Given the description of an element on the screen output the (x, y) to click on. 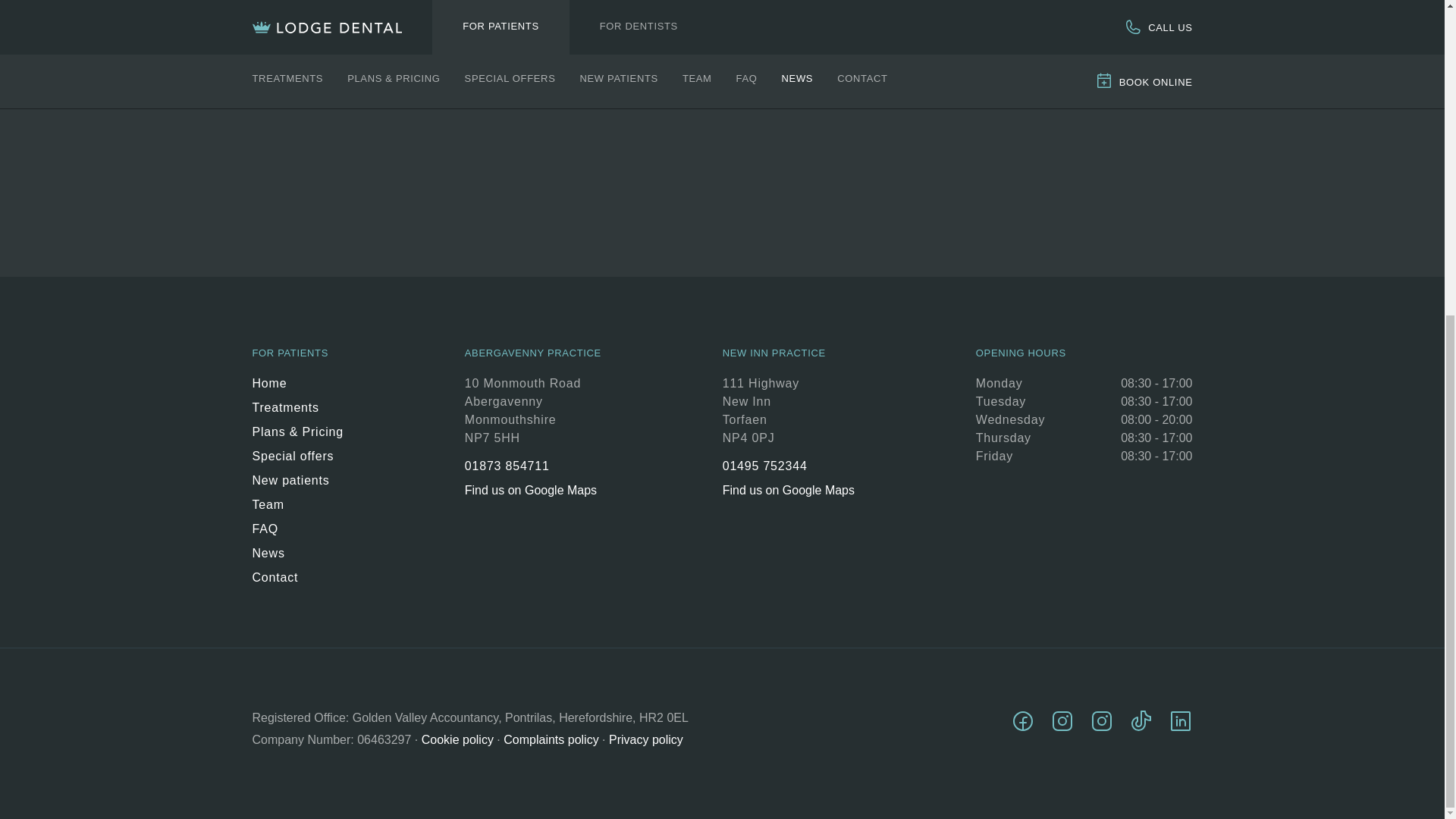
Special offers (297, 459)
01873 854711 (532, 469)
Treatments (297, 410)
Home (297, 386)
News (297, 556)
Cookie policy (457, 740)
Contact (297, 577)
01495 752344 (788, 469)
Complaints policy (550, 740)
FAQ (297, 532)
Find us on Google Maps (788, 490)
Team (297, 508)
Find us on Google Maps (532, 490)
Privacy policy (645, 740)
New patients (297, 483)
